Given the description of an element on the screen output the (x, y) to click on. 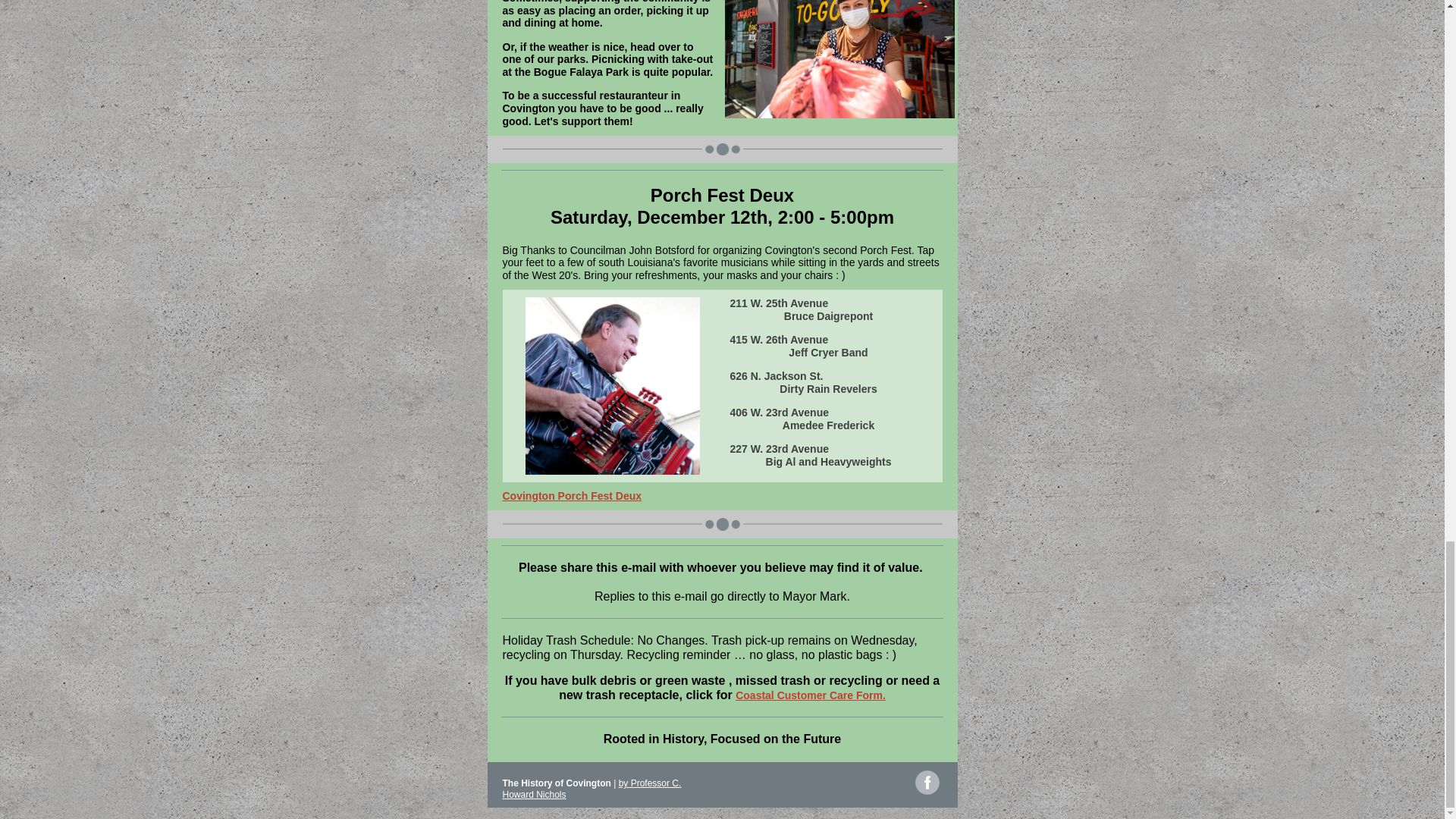
by Professor C. Howard Nichols (591, 788)
Coastal Customer Care Form. (810, 695)
Covington Porch Fest Deux (572, 495)
